Given the description of an element on the screen output the (x, y) to click on. 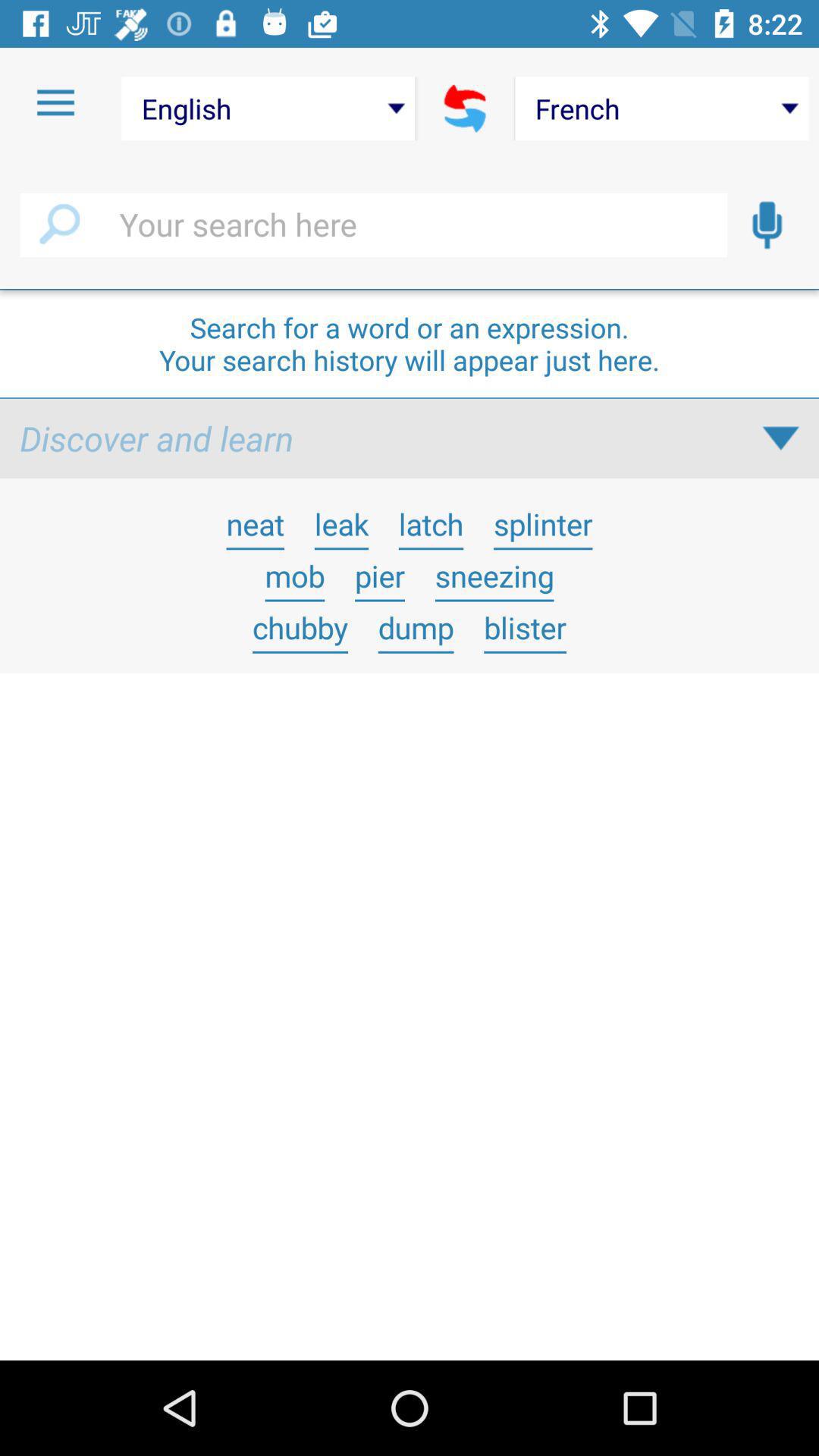
launch the item to the left of splinter (430, 523)
